Given the description of an element on the screen output the (x, y) to click on. 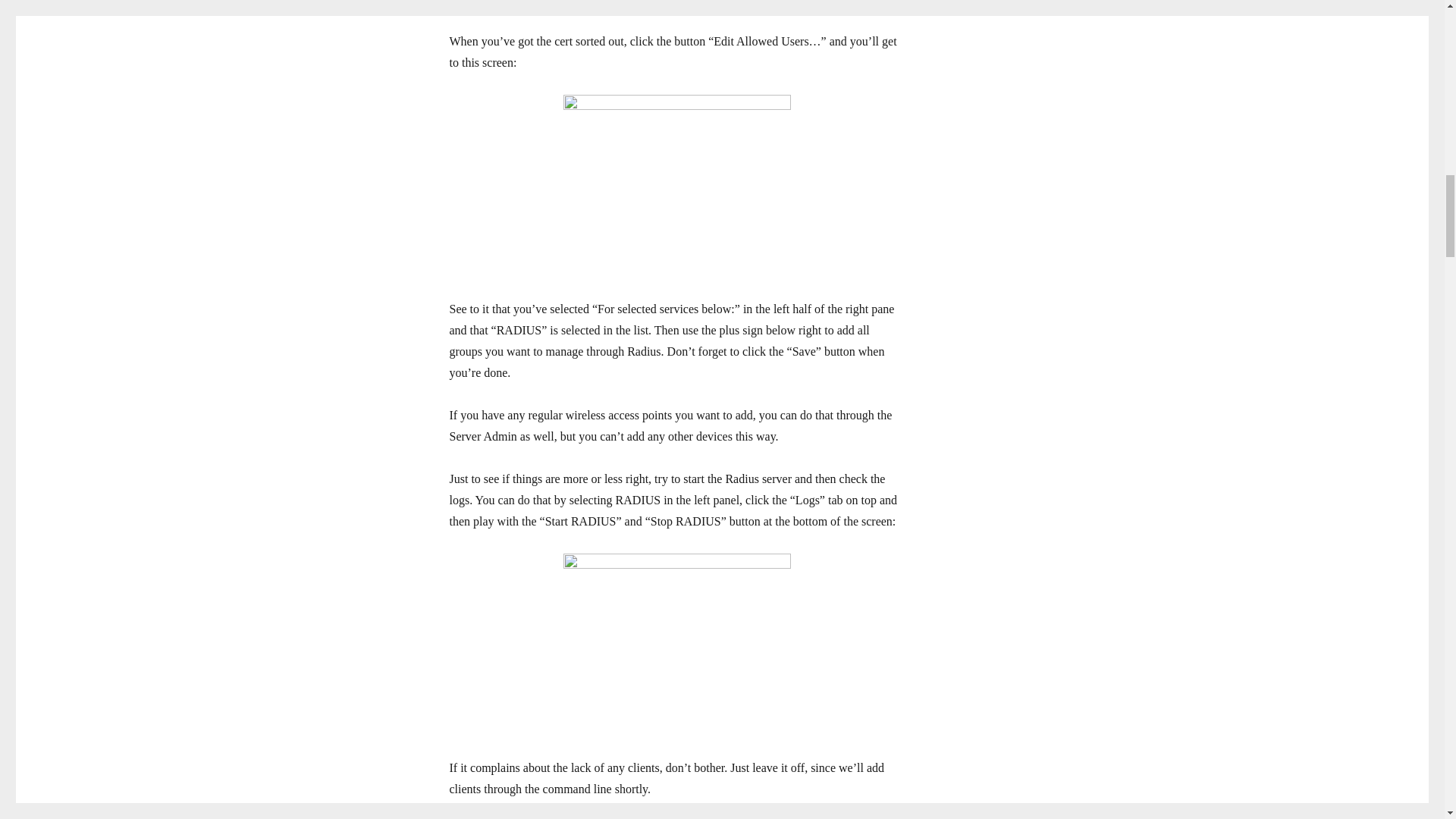
Server AdminScreenSnapz006 (676, 644)
Server AdminScreenSnapz001 (676, 186)
CAcert (549, 2)
